Given the description of an element on the screen output the (x, y) to click on. 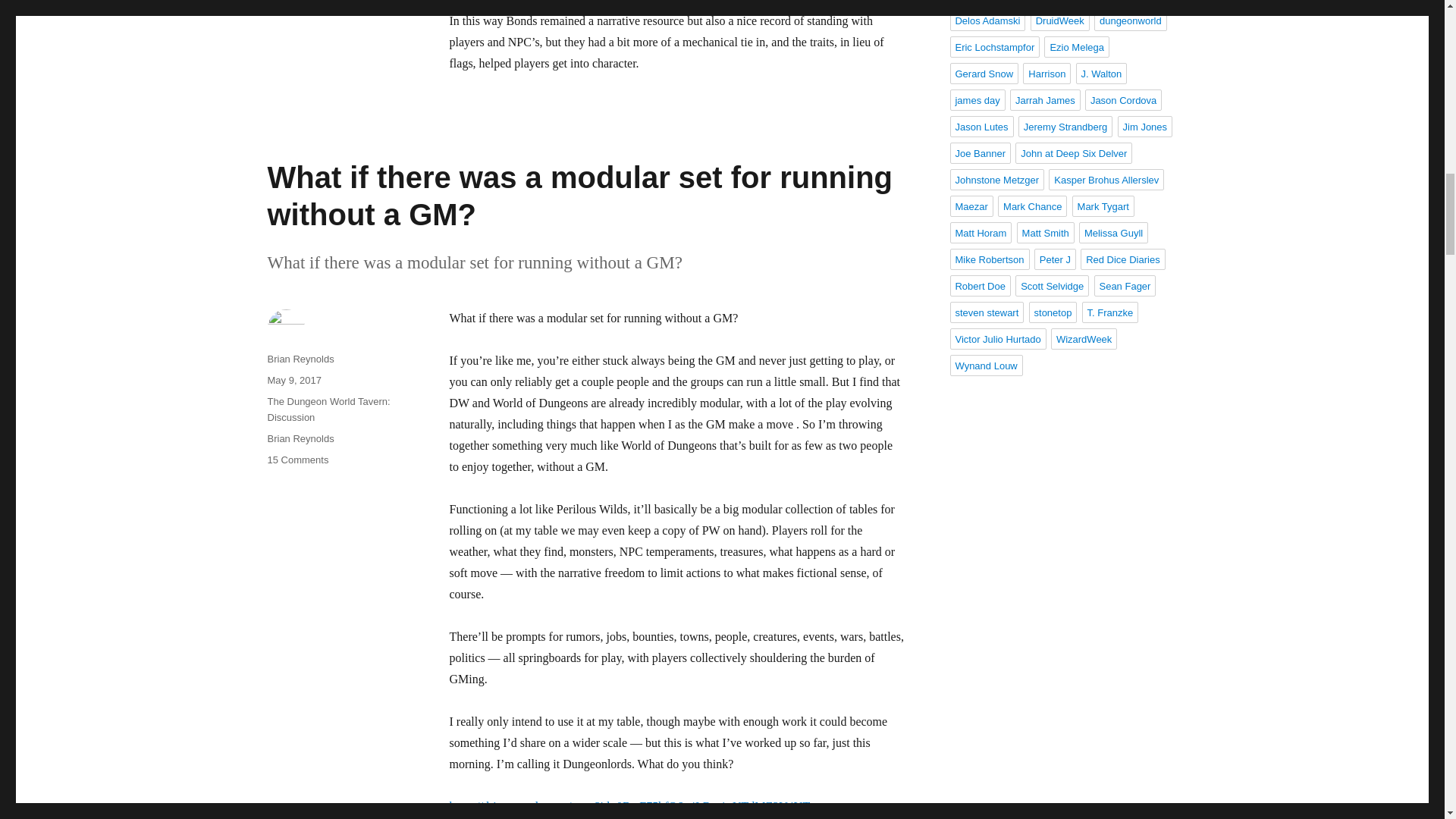
Brian Reynolds (299, 438)
Brian Reynolds (299, 358)
The Dungeon World Tavern: Discussion (328, 409)
May 9, 2017 (293, 379)
What if there was a modular set for running without a GM? (579, 195)
